Given the description of an element on the screen output the (x, y) to click on. 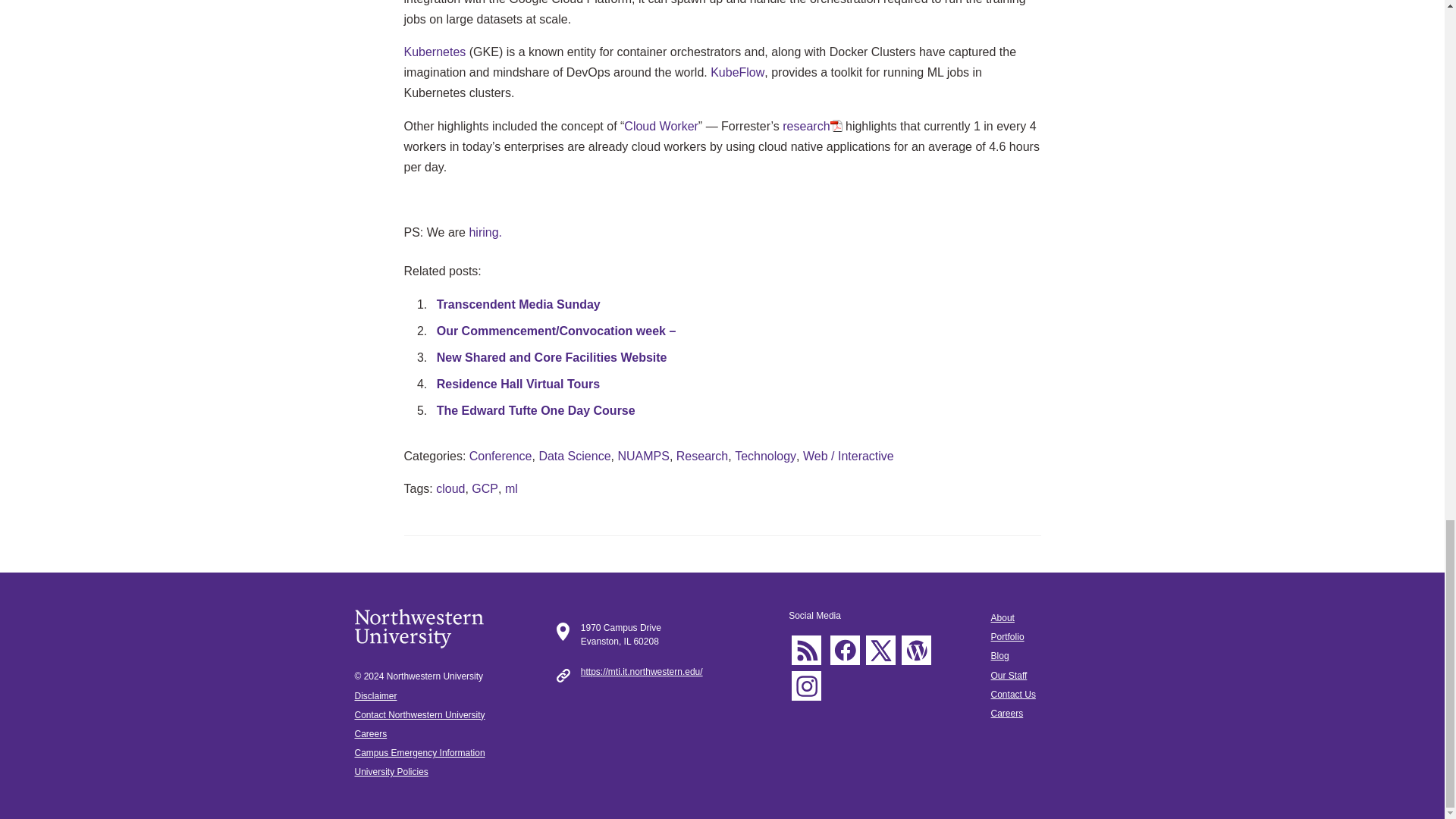
Transcendent Media Sunday (517, 304)
Residence Hall Virtual Tours (517, 383)
Cloud Worker (661, 125)
Residence Hall Virtual Tours (517, 383)
hiring. (485, 232)
New Shared and Core Facilities Website (551, 357)
research (812, 125)
KubeFlow (737, 72)
The Edward Tufte One Day Course (535, 410)
Kubernetes (434, 51)
The Edward Tufte One Day Course (535, 410)
New Shared and Core Facilities Website (551, 357)
Transcendent Media Sunday (517, 304)
